Given the description of an element on the screen output the (x, y) to click on. 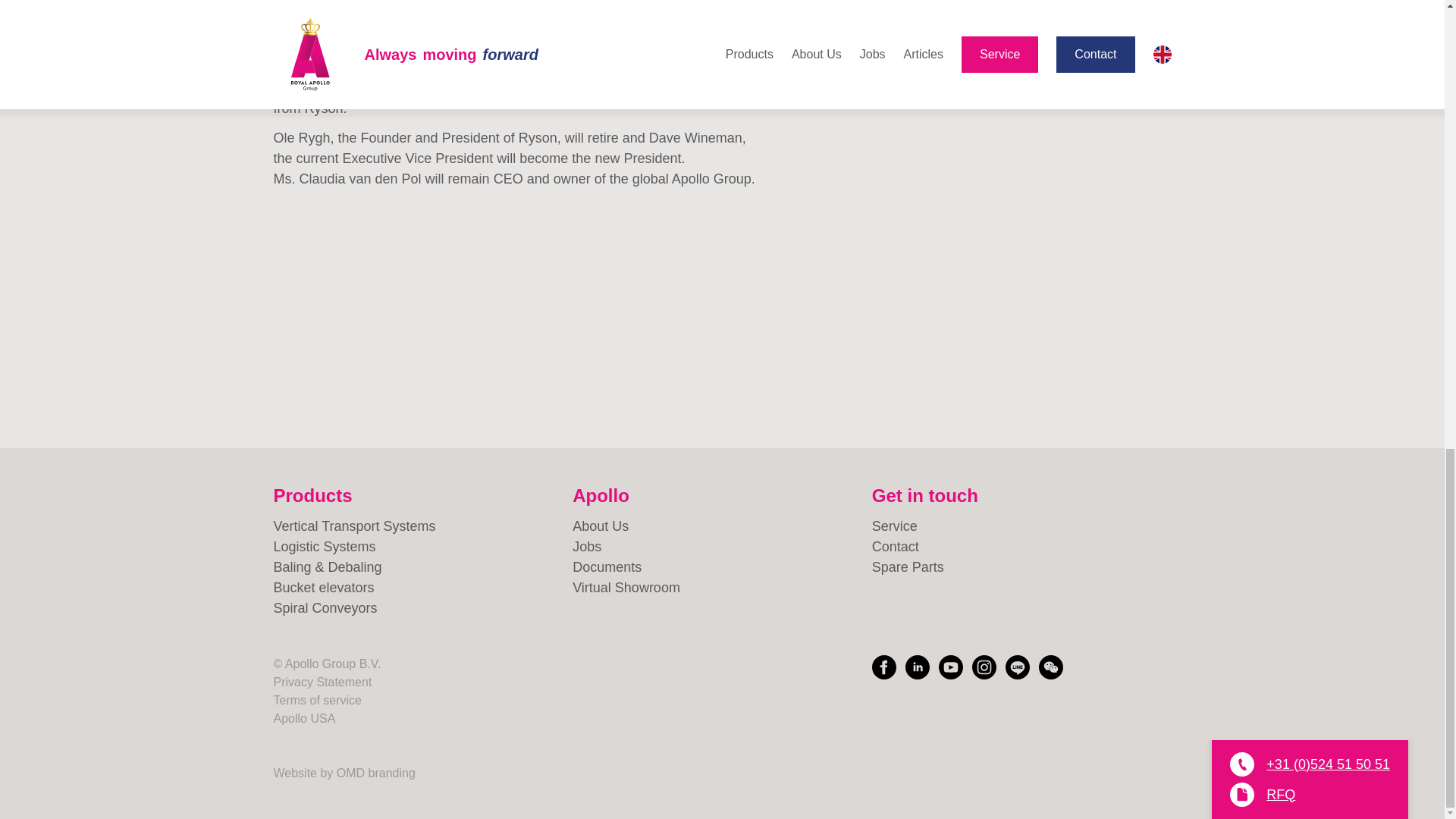
Terms of service (317, 699)
Documents (722, 567)
Spare Parts (1022, 567)
Vertical Transport Systems (422, 526)
Logistic Systems (422, 547)
Service (1022, 526)
About Us (722, 526)
Jobs (722, 547)
Contact (1022, 547)
Vertical Transport Systems (422, 526)
Privacy Statement (322, 681)
Logistic Systems (422, 547)
Bucket elevators (422, 588)
Spiral Conveyors (422, 608)
Apollo USA (303, 717)
